Given the description of an element on the screen output the (x, y) to click on. 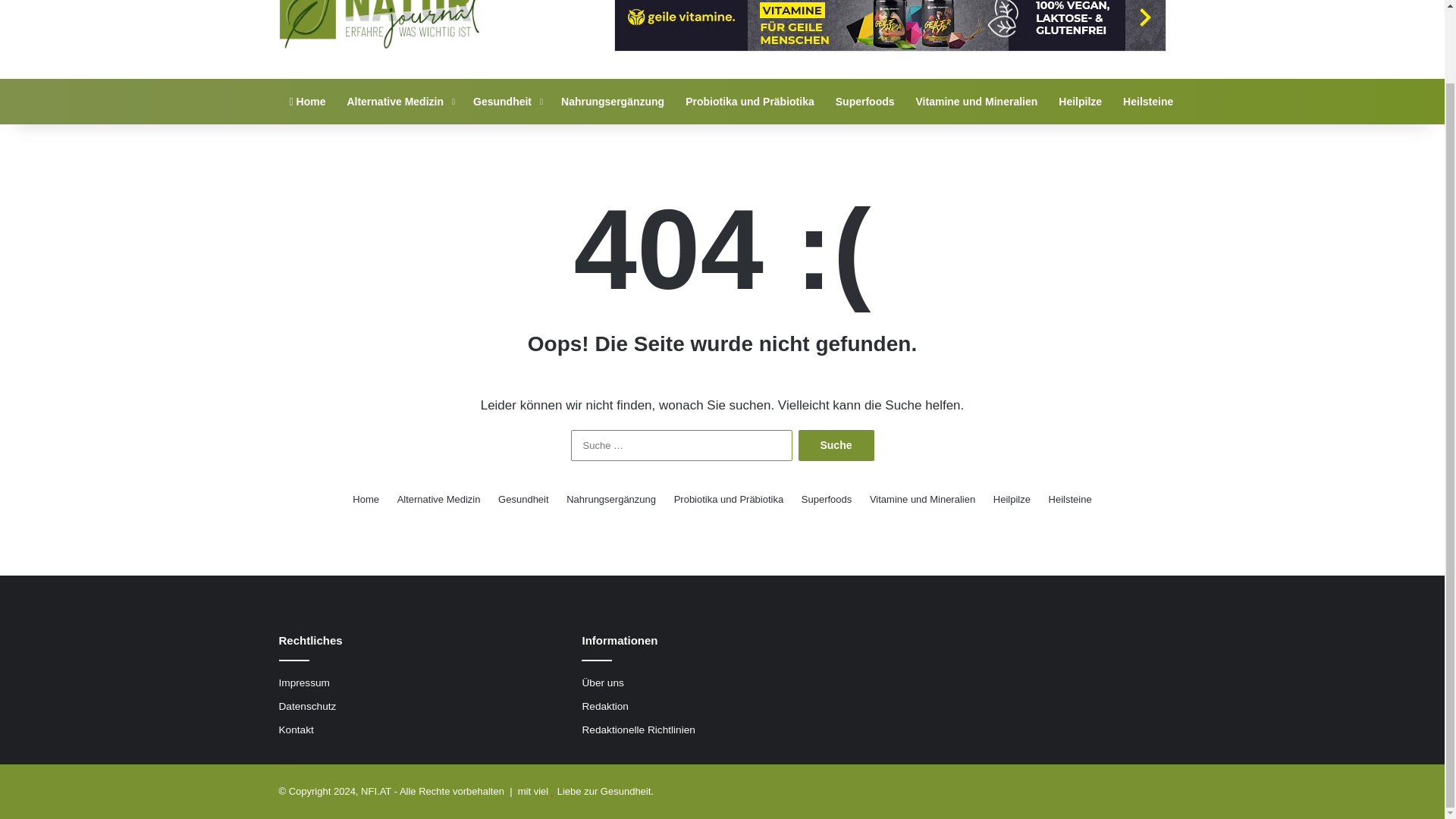
Heilpilze (1011, 498)
Kontakt (296, 729)
Gesundheit (506, 101)
Home (307, 101)
Suche (835, 445)
Redaktionelle Richtlinien (637, 729)
Suche (835, 445)
Superfoods (826, 498)
Gesundheit (506, 101)
NFI - Natur Journal (380, 24)
Suche (835, 445)
Alternative Medizin (438, 498)
Gesundheit (522, 498)
Alternative Medizin (399, 101)
Vitamine und Mineralien (976, 101)
